Given the description of an element on the screen output the (x, y) to click on. 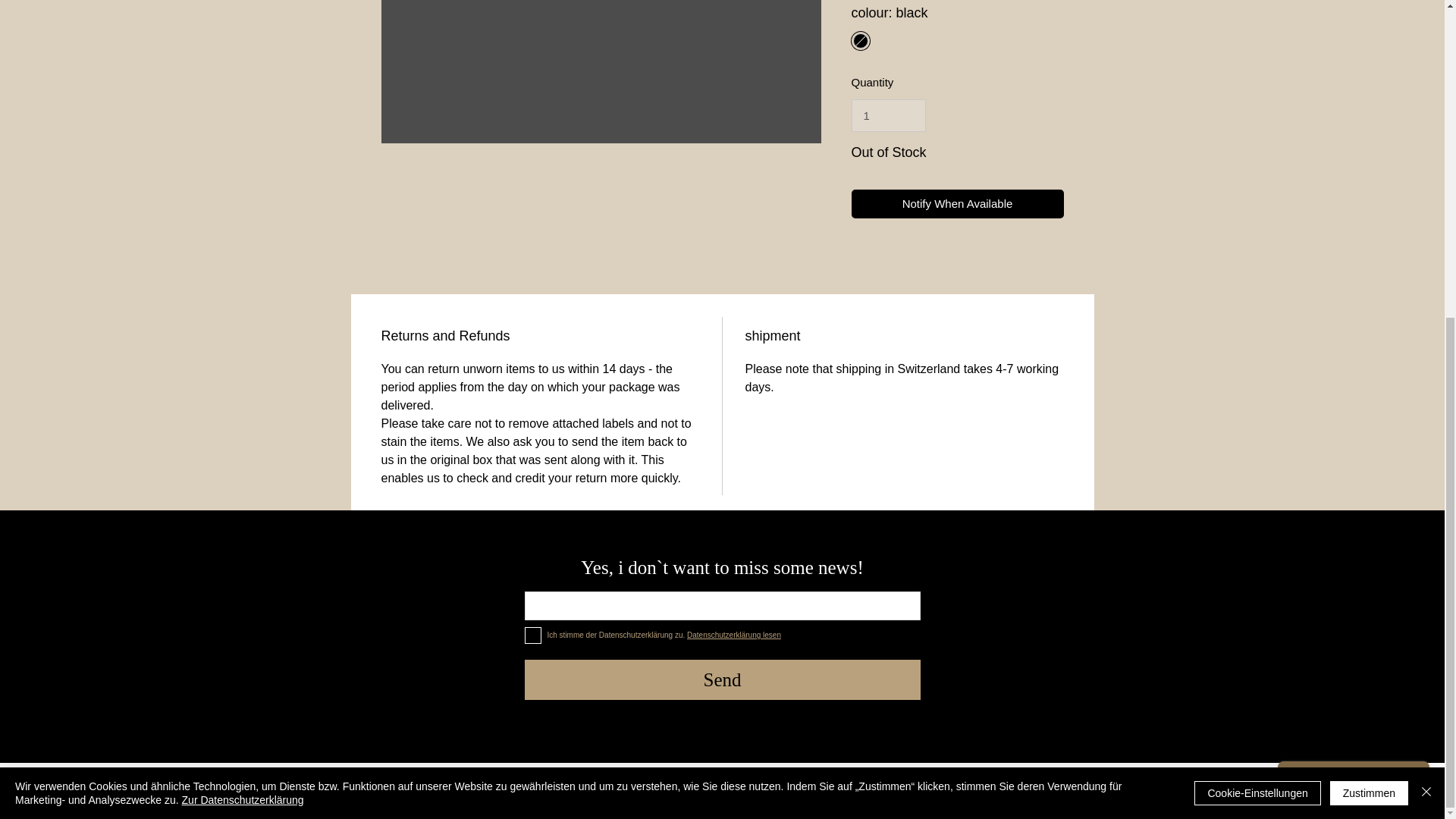
1 (887, 115)
Zustimmen (1368, 281)
Send (722, 680)
Cookie-Einstellungen (1256, 281)
Notify When Available (956, 204)
